Given the description of an element on the screen output the (x, y) to click on. 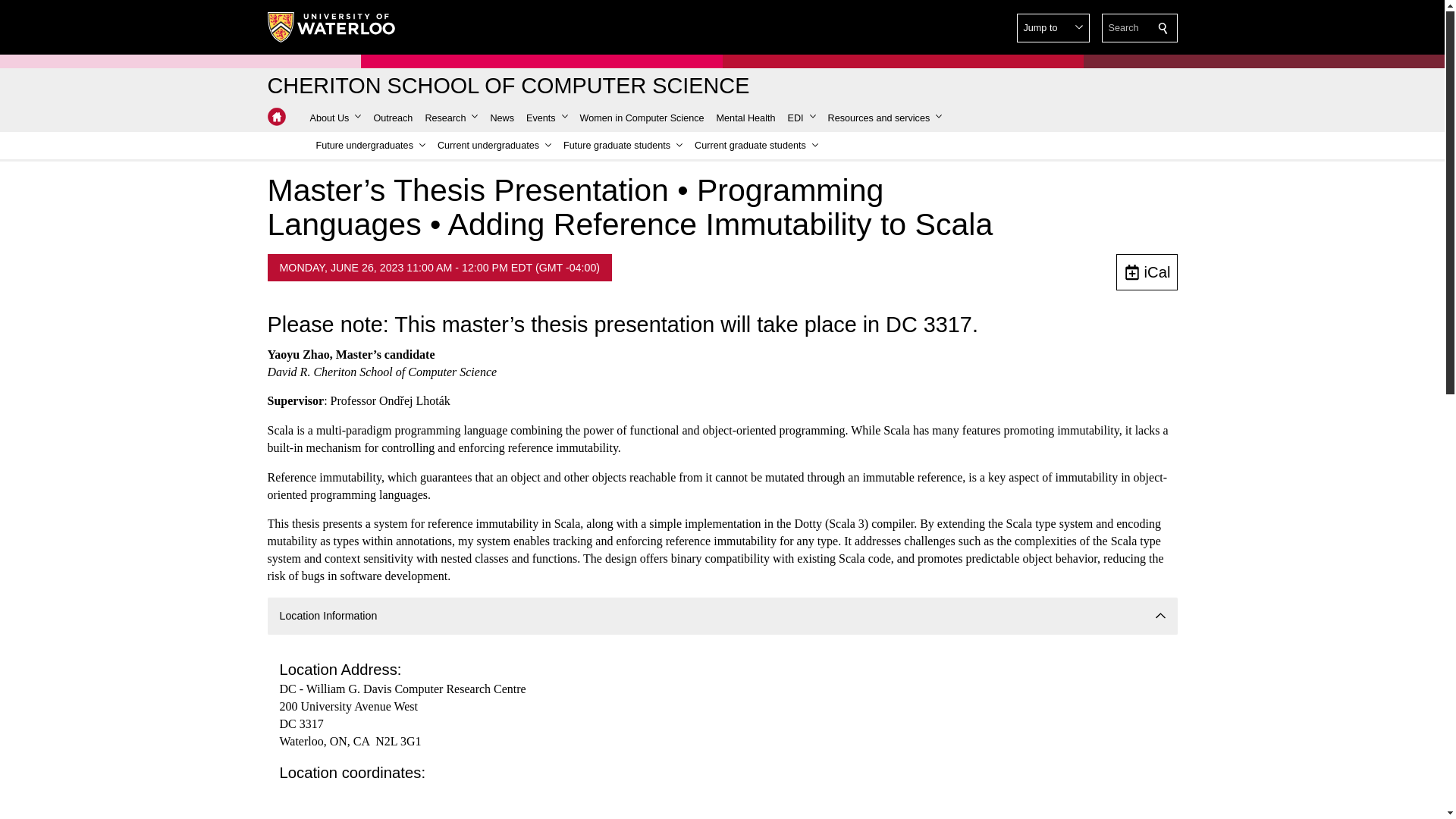
University of Waterloo Home (331, 27)
Cheriton School of Computer Science Home (275, 116)
Search (1163, 27)
Research (451, 117)
Jump to (1053, 27)
Search (1163, 27)
Cheriton School of Computer Science Home (275, 116)
Women in Computer Science (641, 117)
CHERITON SCHOOL OF COMPUTER SCIENCE (507, 85)
About Us (334, 117)
